Given the description of an element on the screen output the (x, y) to click on. 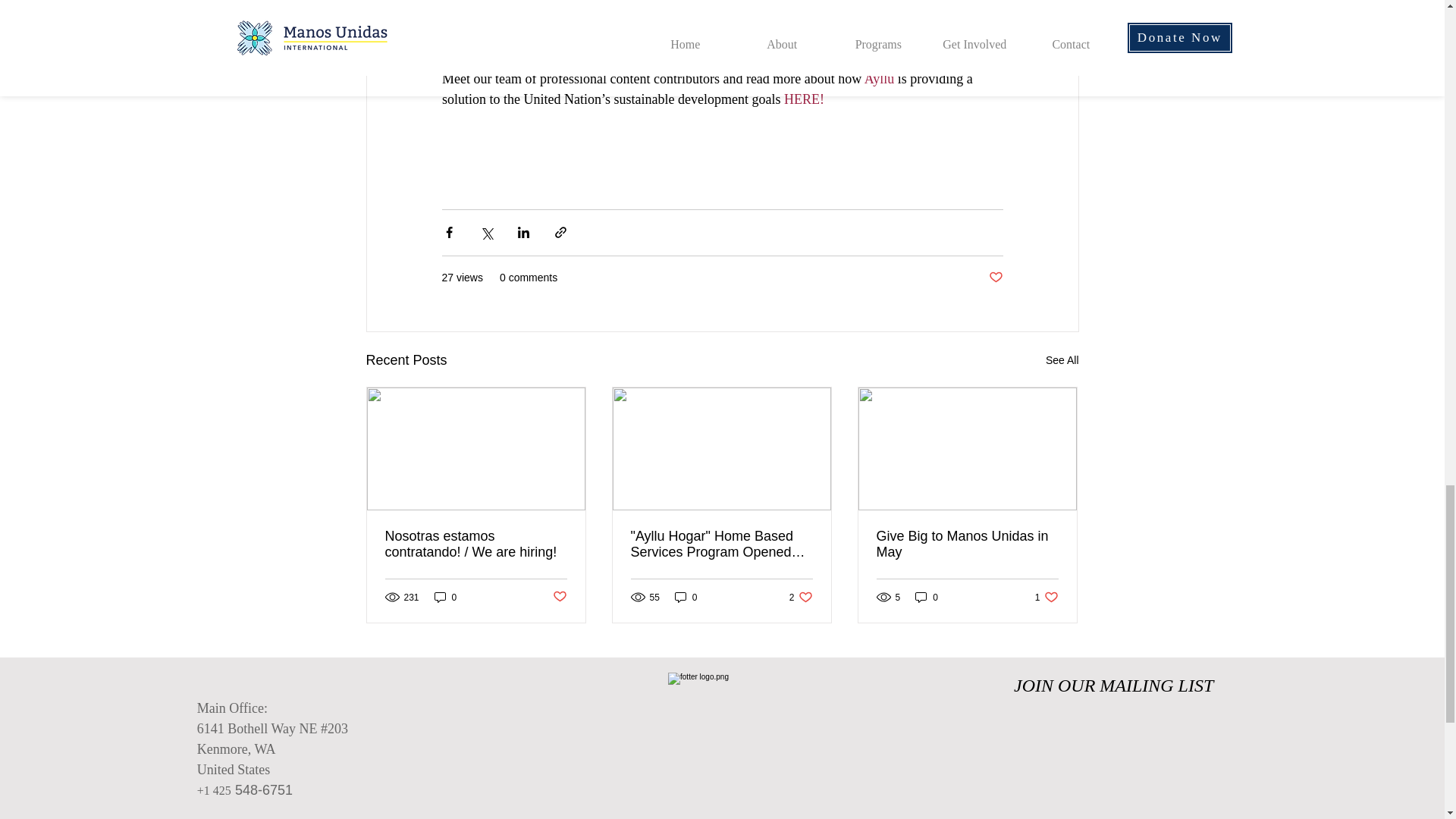
0 (926, 596)
0 (685, 596)
See All (1061, 360)
0 (445, 596)
Post not marked as liked (995, 277)
HERE!  (805, 99)
Post not marked as liked (558, 596)
Ayllu (800, 596)
Give Big to Manos Unidas in May (878, 78)
